Given the description of an element on the screen output the (x, y) to click on. 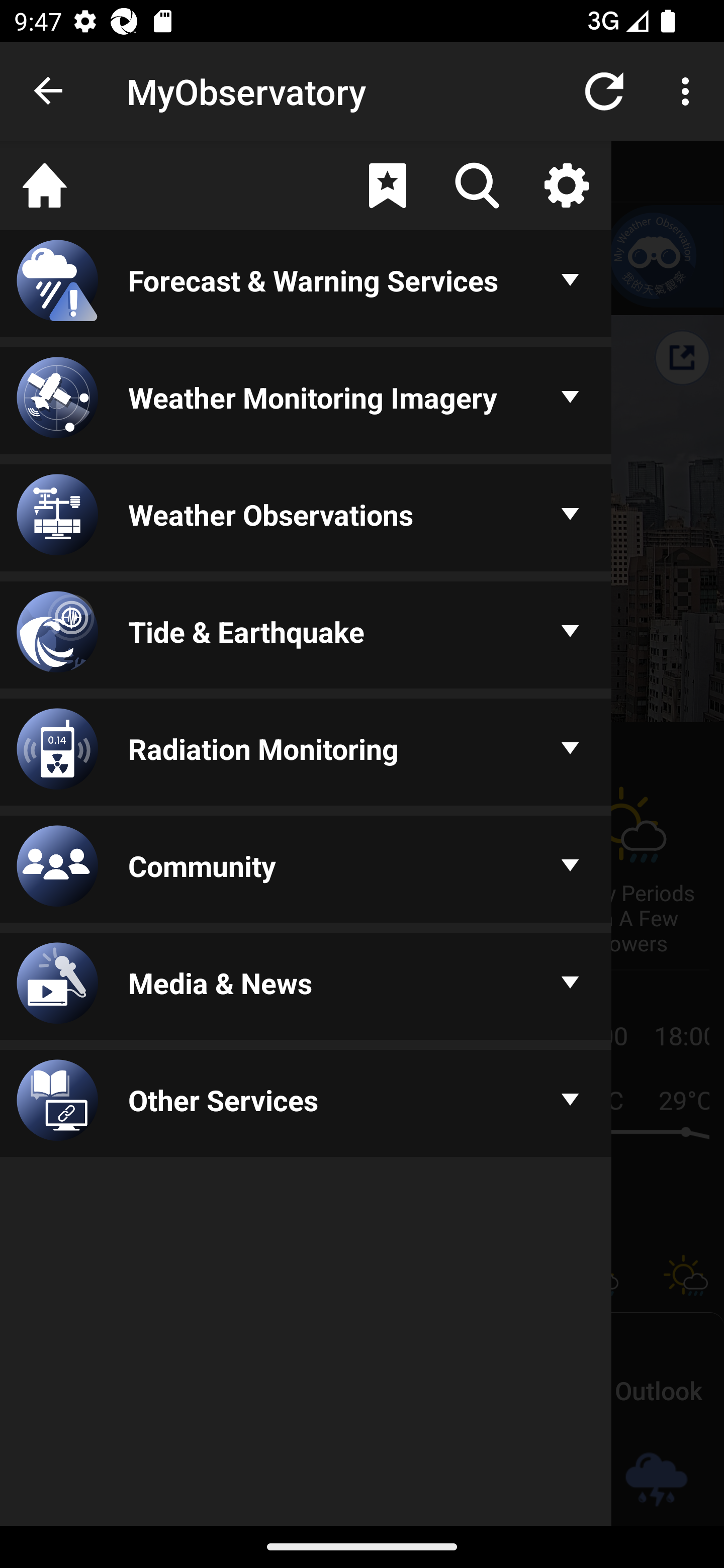
Navigate up (49, 91)
Refresh (604, 90)
More options (688, 90)
Homepage (44, 185)
Bookmark Manager (387, 185)
Search Unselected (477, 185)
Settings (566, 185)
Forecast & Warning Services Collapsed (305, 285)
Weather Monitoring Imagery Collapsed (305, 401)
Weather Observations Collapsed (305, 518)
Tide & Earthquake Collapsed (305, 636)
Radiation Monitoring Collapsed (305, 753)
Community Collapsed (305, 870)
Media & News Collapsed (305, 987)
Other Services Collapsed (305, 1104)
